Given the description of an element on the screen output the (x, y) to click on. 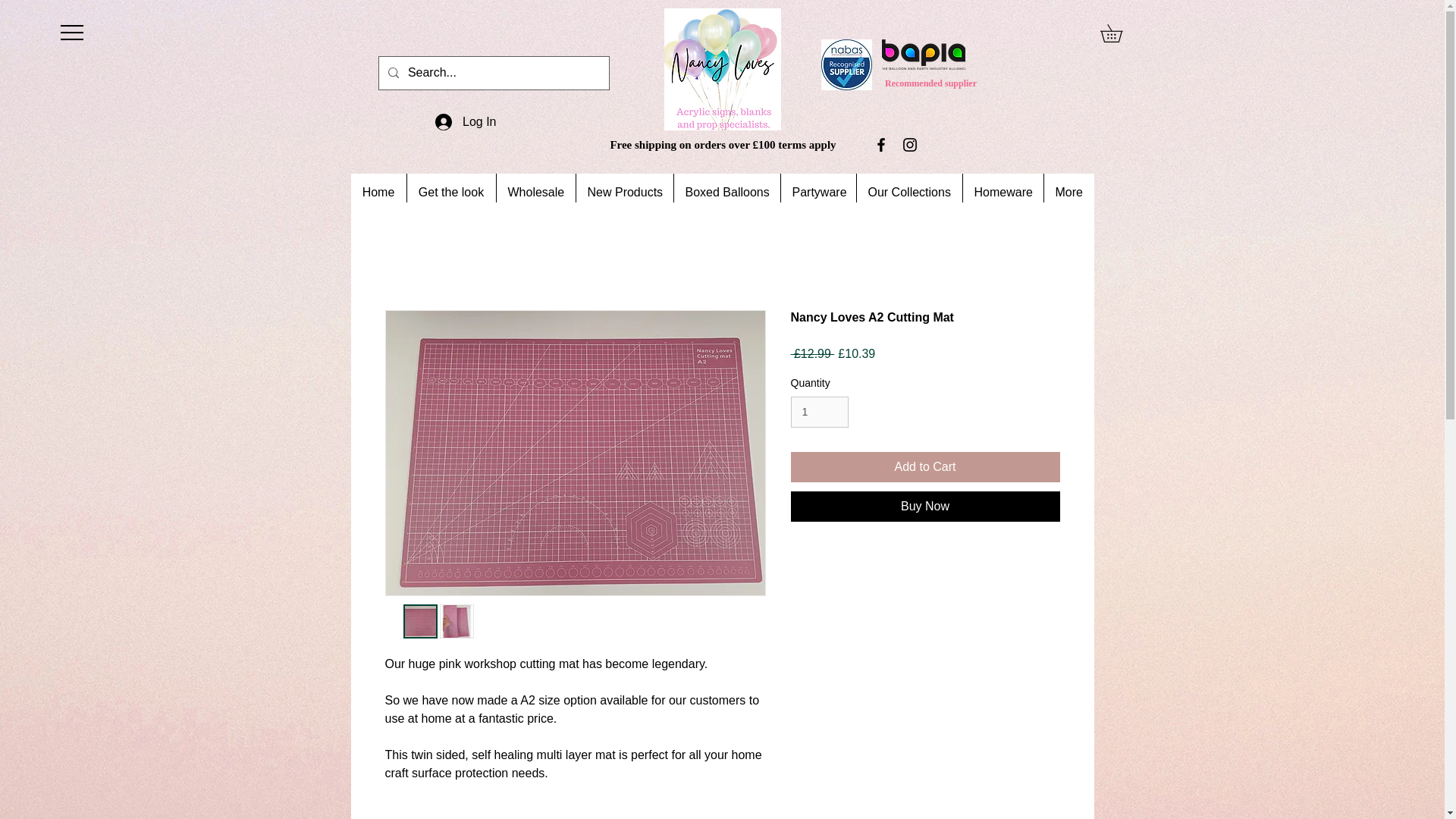
Home (378, 192)
Wholesale (535, 192)
Log In (465, 121)
Our Collections (908, 192)
Partyware (817, 192)
Homeware (1001, 192)
New Products (623, 192)
Boxed Balloons (726, 192)
Get the look (451, 192)
1 (818, 411)
